Given the description of an element on the screen output the (x, y) to click on. 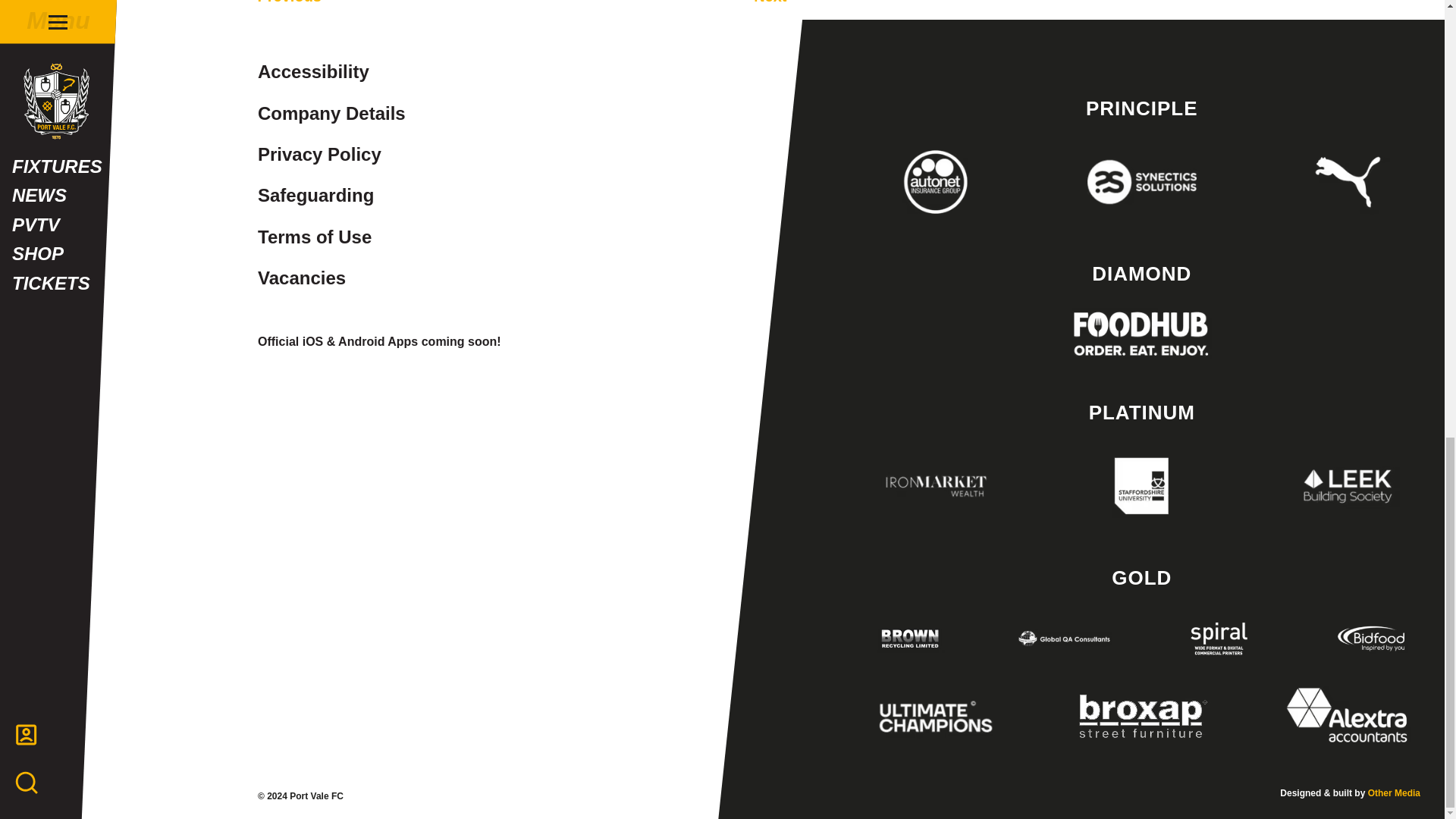
Foodhub (1141, 333)
Ironmarket (936, 485)
Autonet (936, 181)
Puma (1348, 181)
Staffordshire Uni (1141, 485)
Synectics (1141, 181)
